Given the description of an element on the screen output the (x, y) to click on. 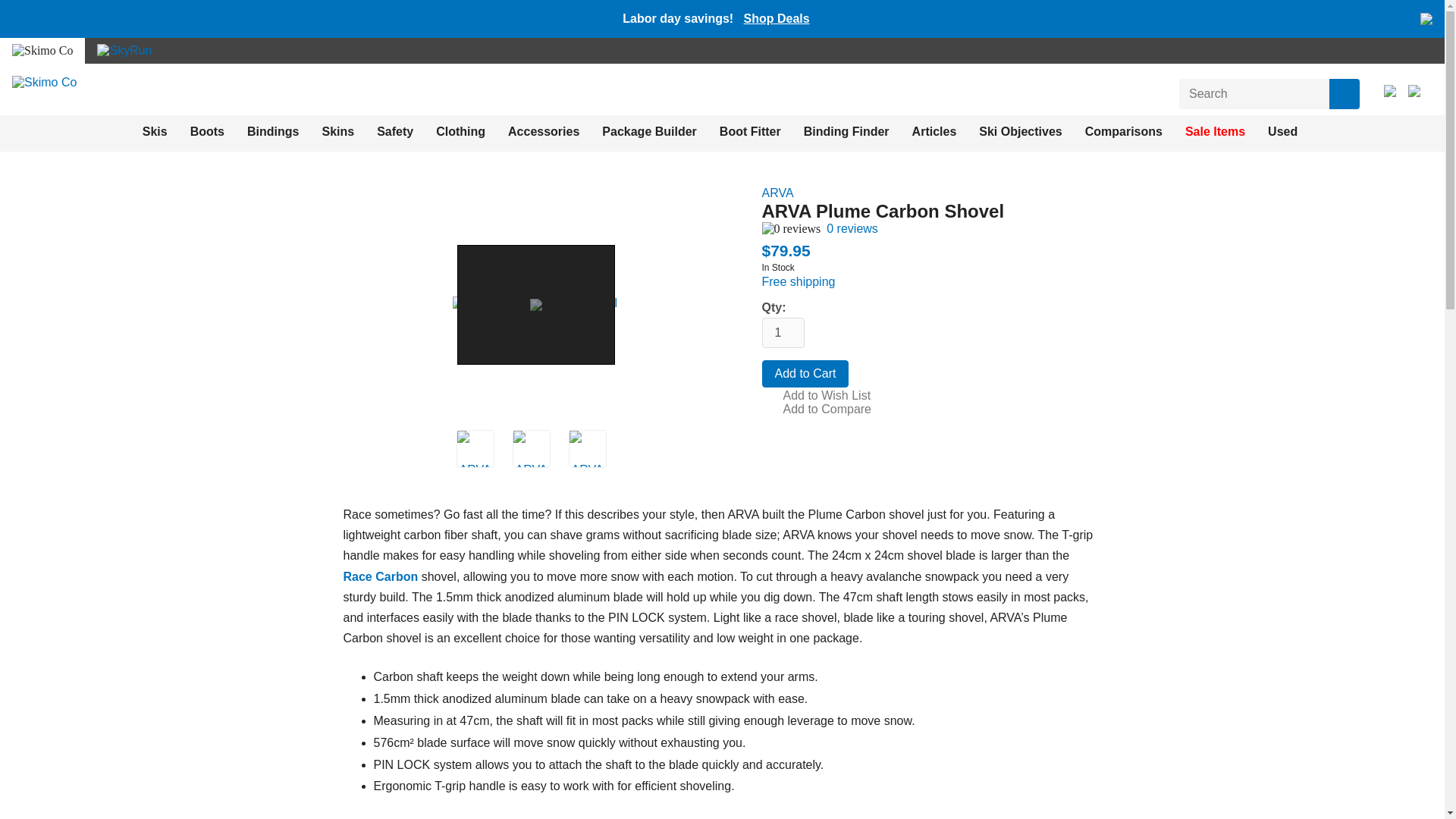
Skimo Co (44, 82)
Boots (207, 131)
1 (782, 332)
ARVA Plume Carbon Shovel (476, 448)
ARVA Plume Carbon Shovel (587, 448)
Bindings (272, 131)
ARVA Plume Carbon Shovel (534, 303)
Skis (154, 131)
Clothing (459, 131)
Search (1344, 93)
